Given the description of an element on the screen output the (x, y) to click on. 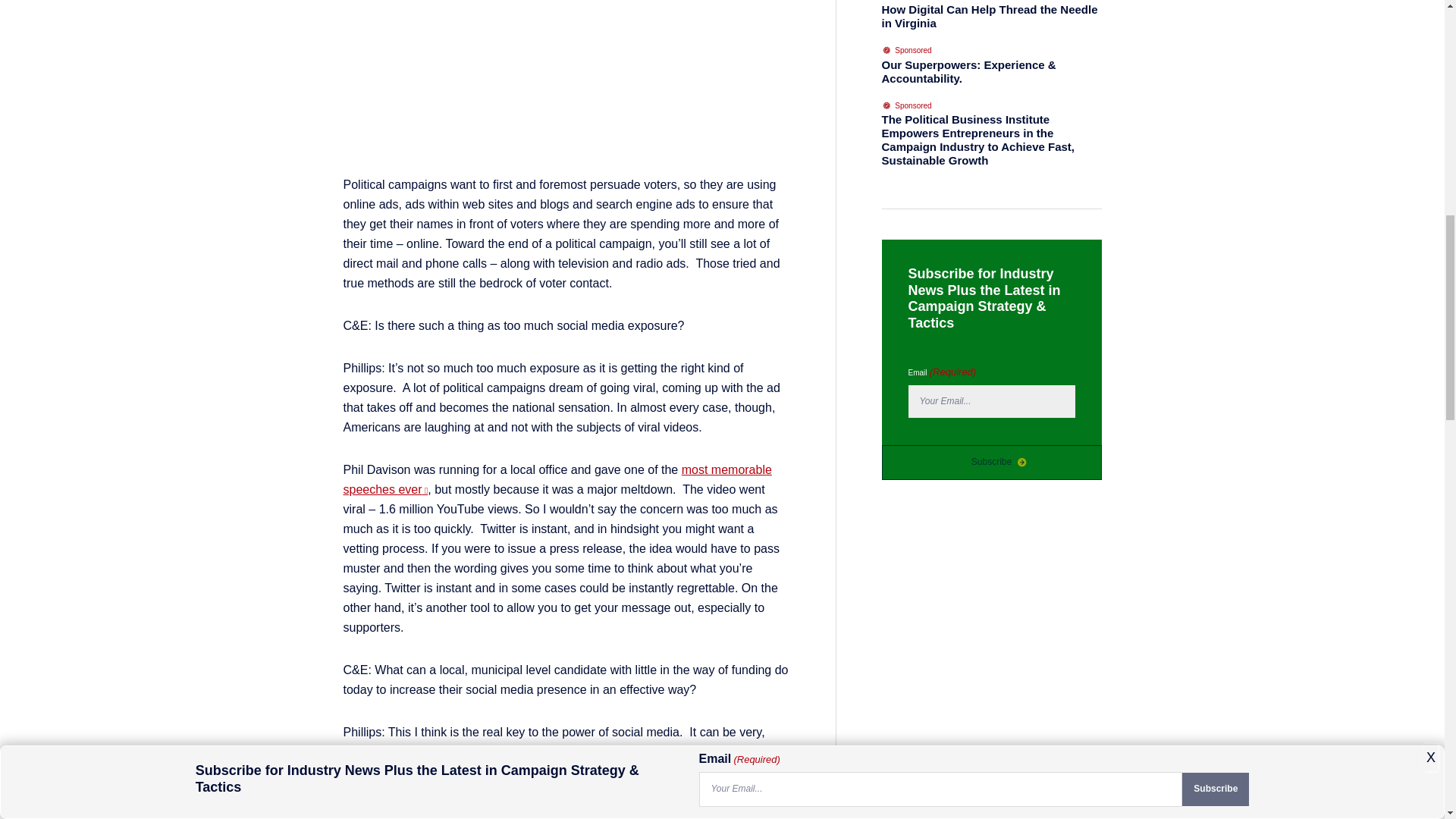
3rd party ad content (565, 87)
Subscribe (990, 462)
